Given the description of an element on the screen output the (x, y) to click on. 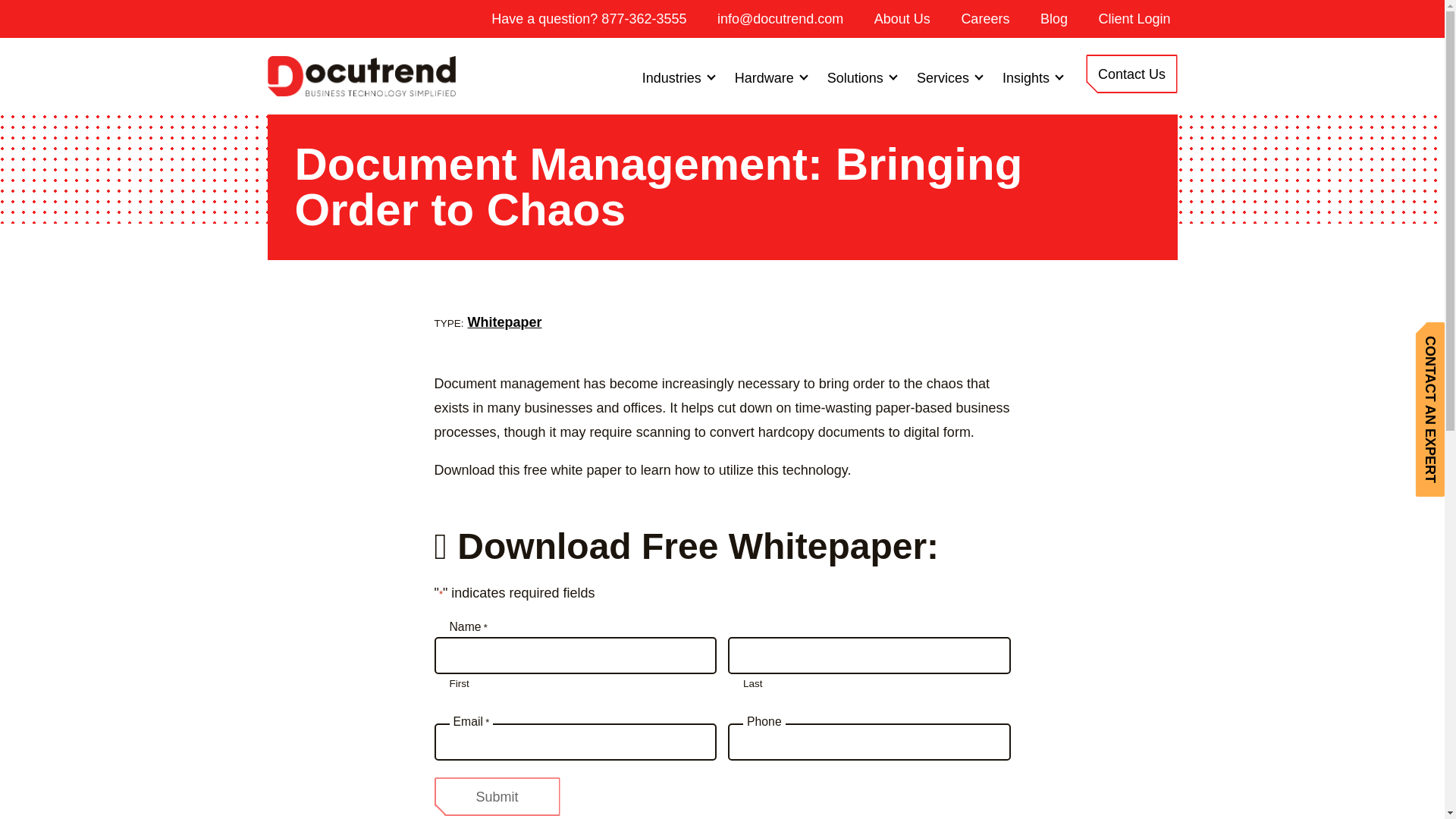
Solutions (860, 77)
Industries (677, 77)
Hardware (769, 77)
Services (948, 77)
